Given the description of an element on the screen output the (x, y) to click on. 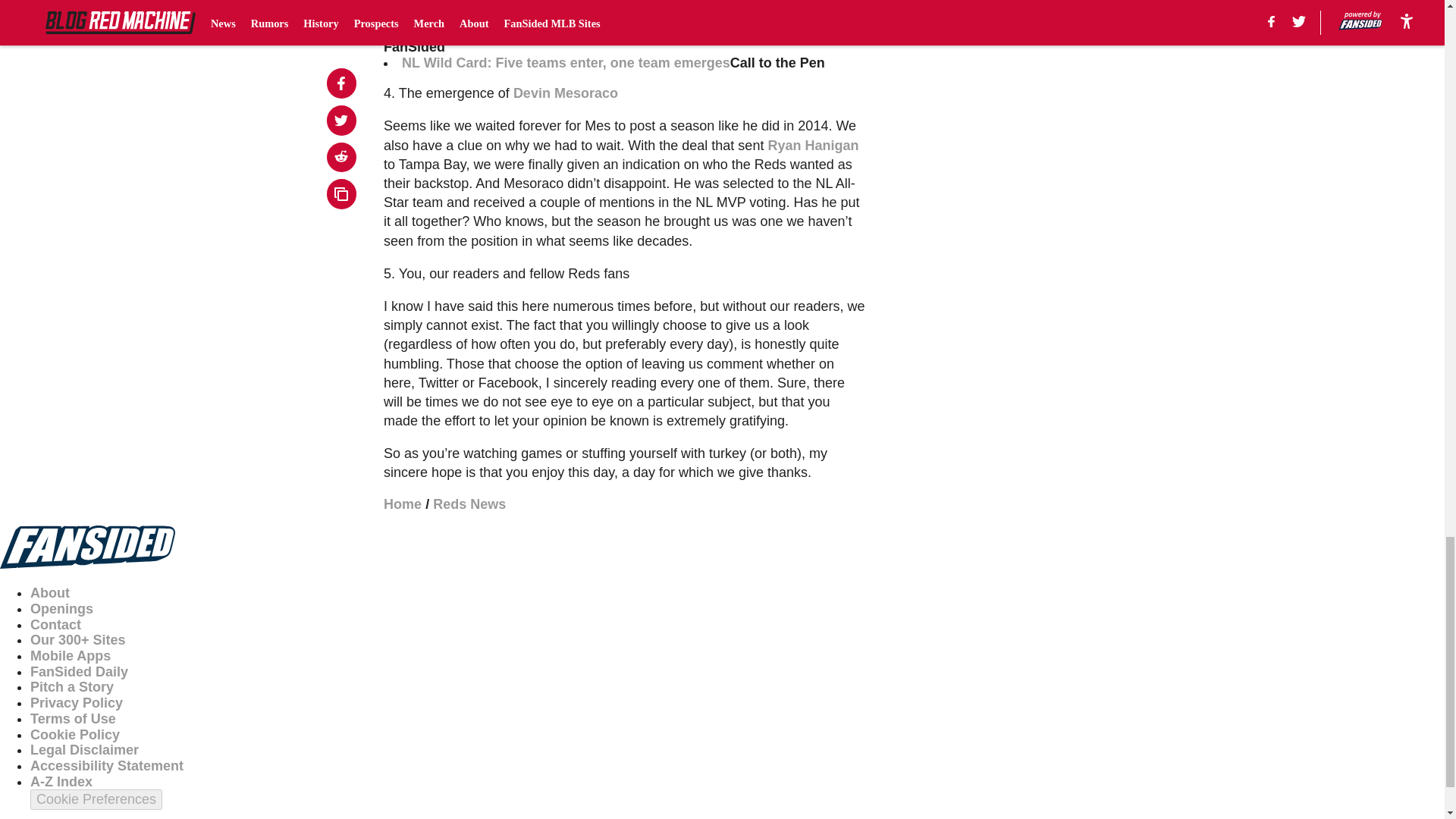
NL Wild Card: Five teams enter, one team emerges (565, 62)
Home (403, 503)
Ryan Hanigan (813, 145)
Devin Mesoraco (565, 92)
Reds News (468, 503)
